Given the description of an element on the screen output the (x, y) to click on. 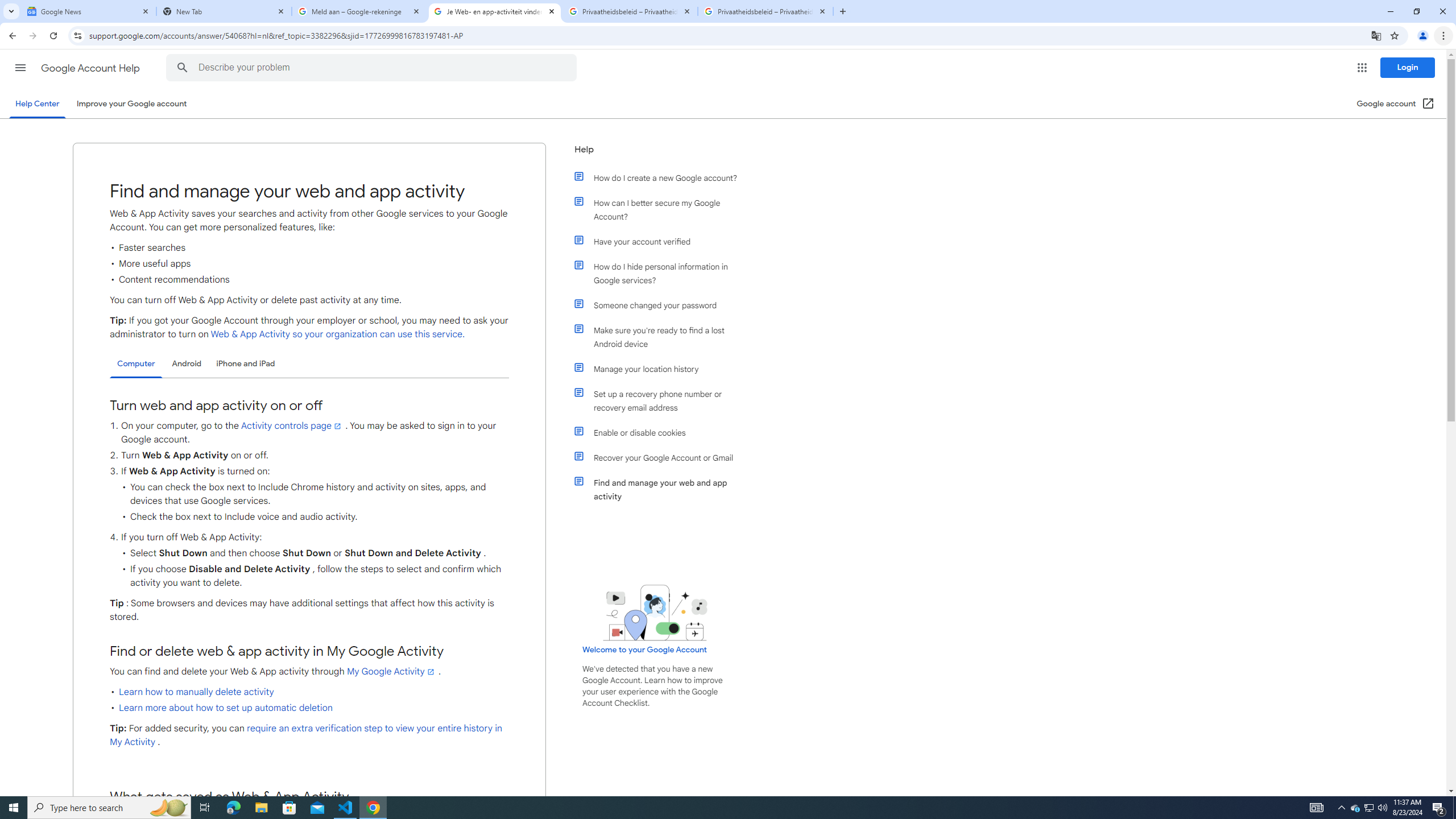
Manage your location history (661, 368)
How do I hide personal information in Google services? (661, 273)
How do I create a new Google account? (661, 177)
How can I better secure my Google Account? (661, 209)
My Google Activity (391, 671)
Someone changed your password (661, 305)
Google News (88, 11)
Computer (136, 364)
Make sure you're ready to find a lost Android device (661, 336)
Learning Center home page image (655, 612)
